Given the description of an element on the screen output the (x, y) to click on. 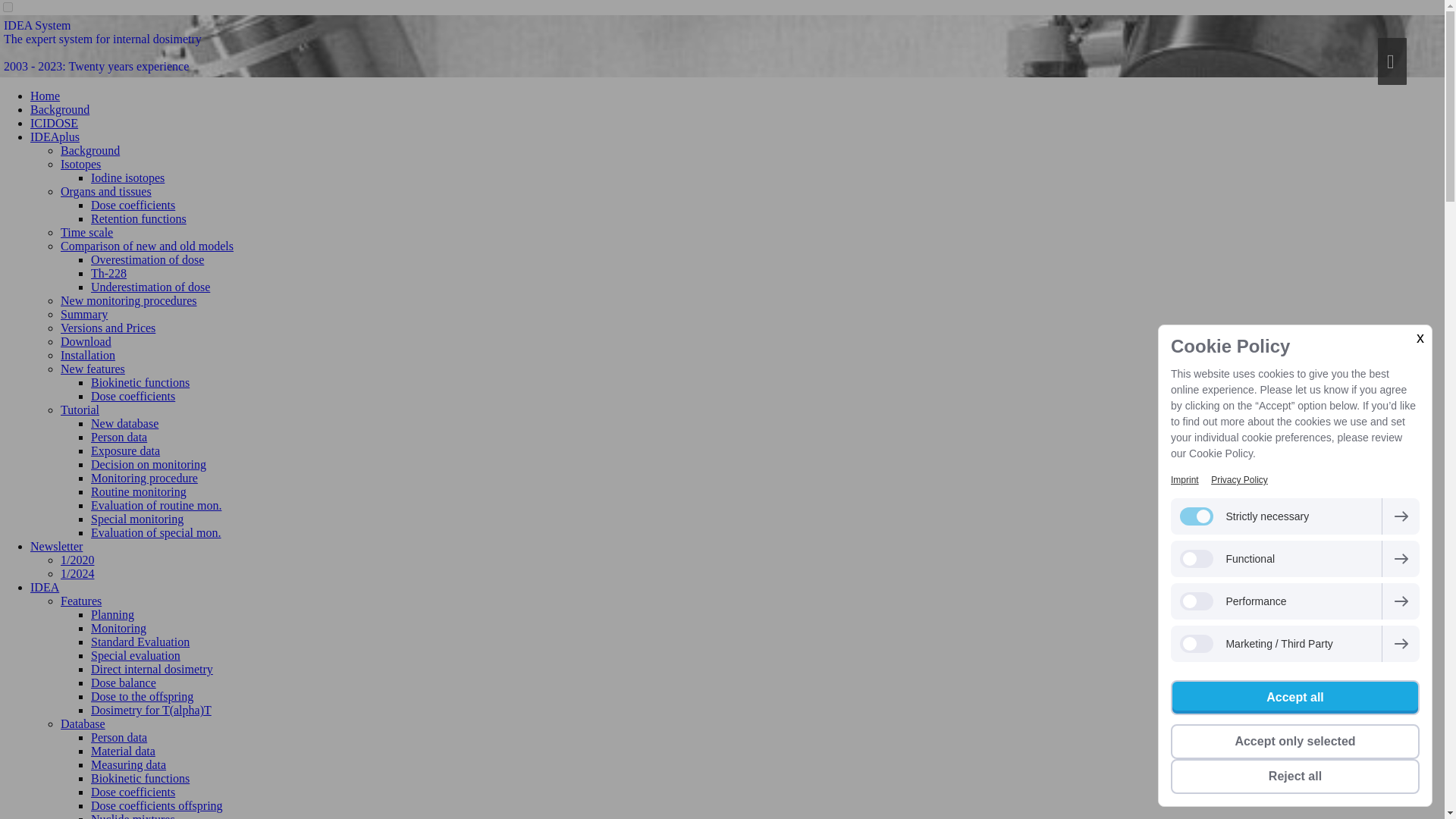
Features (81, 600)
New monitoring procedures (128, 300)
Iodine isotopes (127, 177)
Th-228 (108, 273)
Biokinetic functions (139, 382)
Retention functions (138, 218)
Summary (84, 314)
Person data (118, 436)
Evaluation of special mon. (155, 532)
Isotopes (80, 164)
ICIDOSE (54, 123)
Exposure data (125, 450)
Comparison of new and old models (146, 245)
Special monitoring (136, 518)
Monitoring procedure (144, 477)
